Given the description of an element on the screen output the (x, y) to click on. 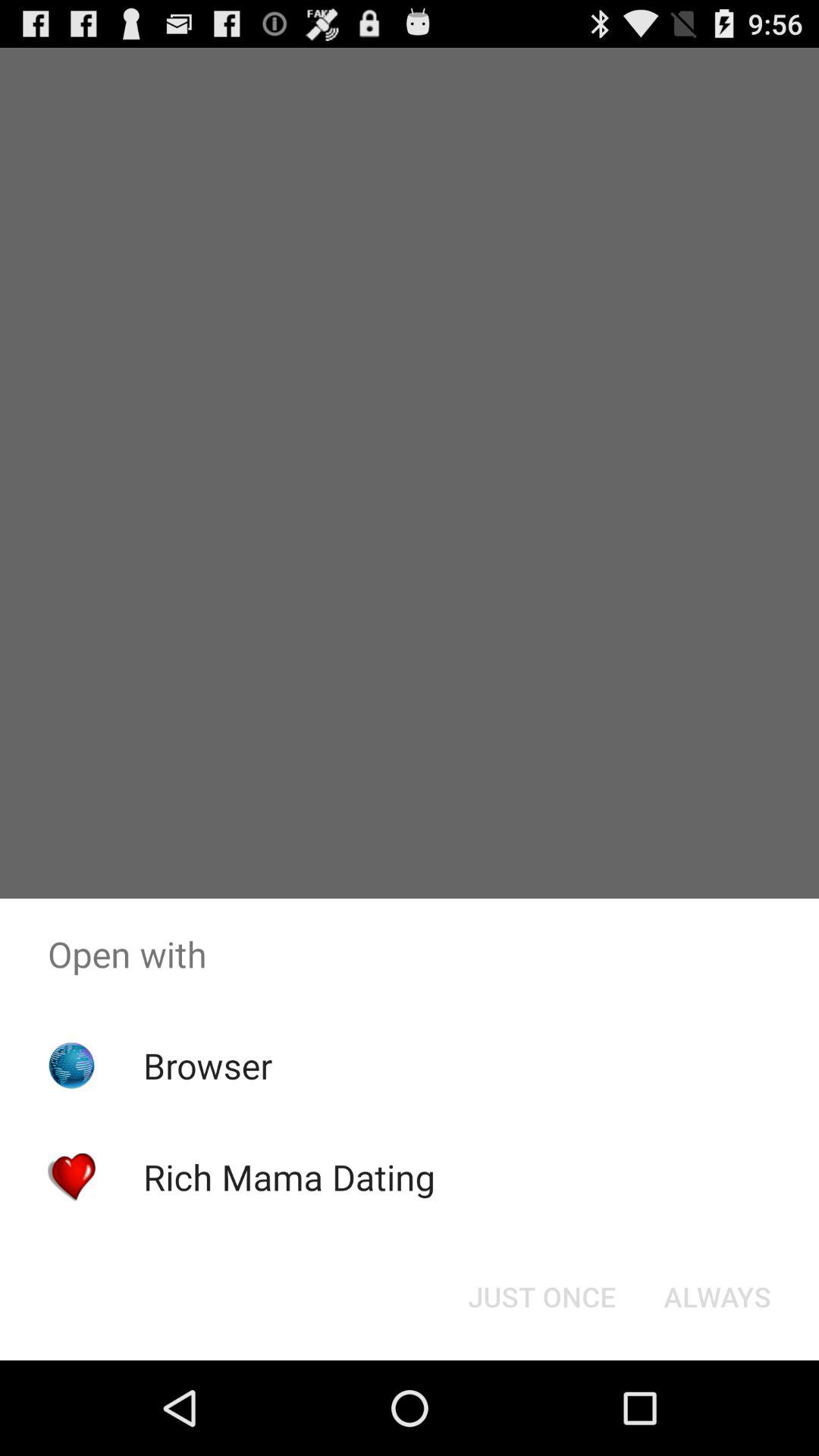
turn on rich mama dating icon (289, 1176)
